Given the description of an element on the screen output the (x, y) to click on. 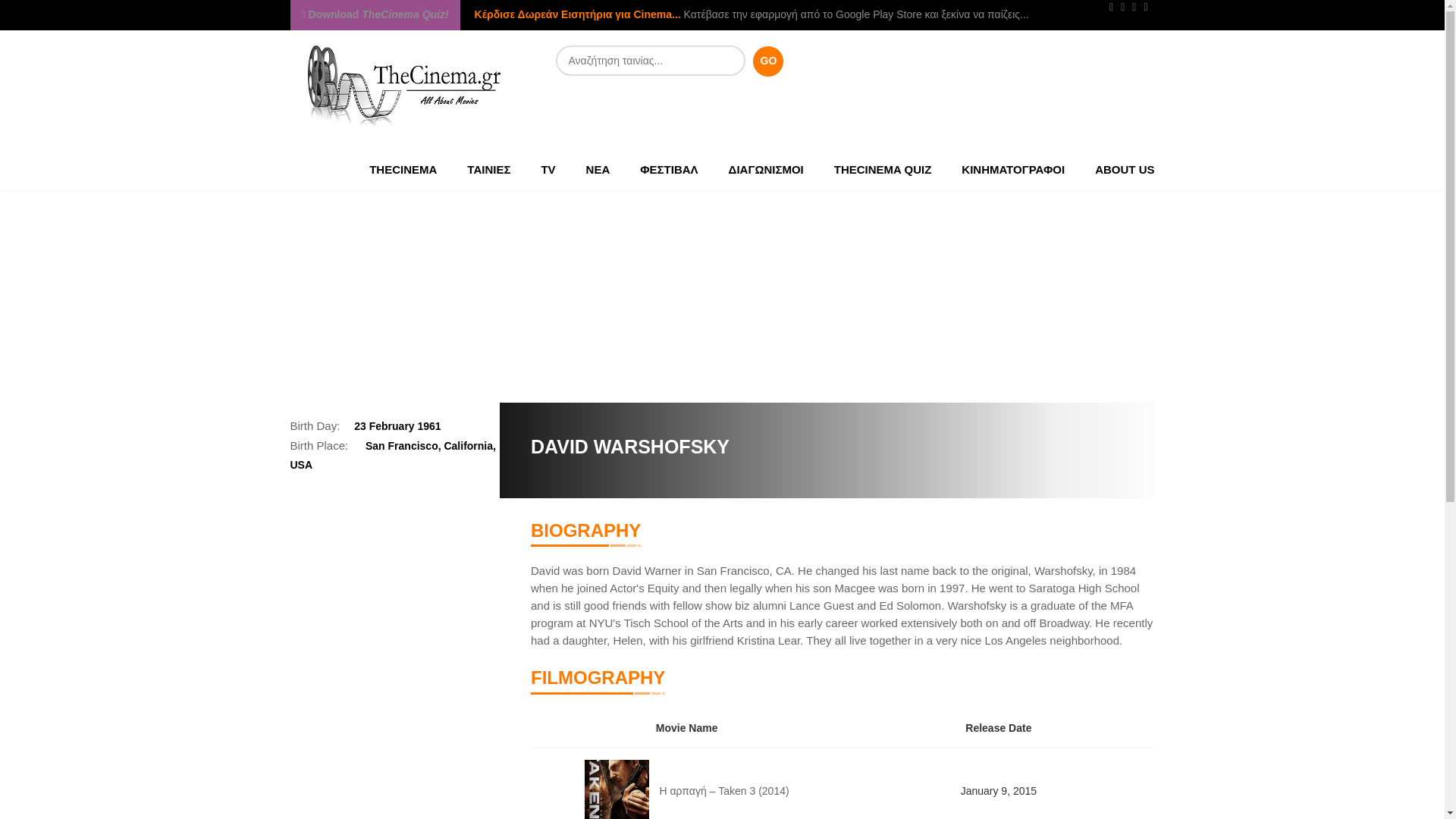
THECINEMA QUIZ (882, 169)
THECINEMA (402, 169)
TV (547, 169)
Download TheCinema Quiz! (374, 14)
Go (767, 60)
ABOUT US (1117, 169)
Go (767, 60)
